Given the description of an element on the screen output the (x, y) to click on. 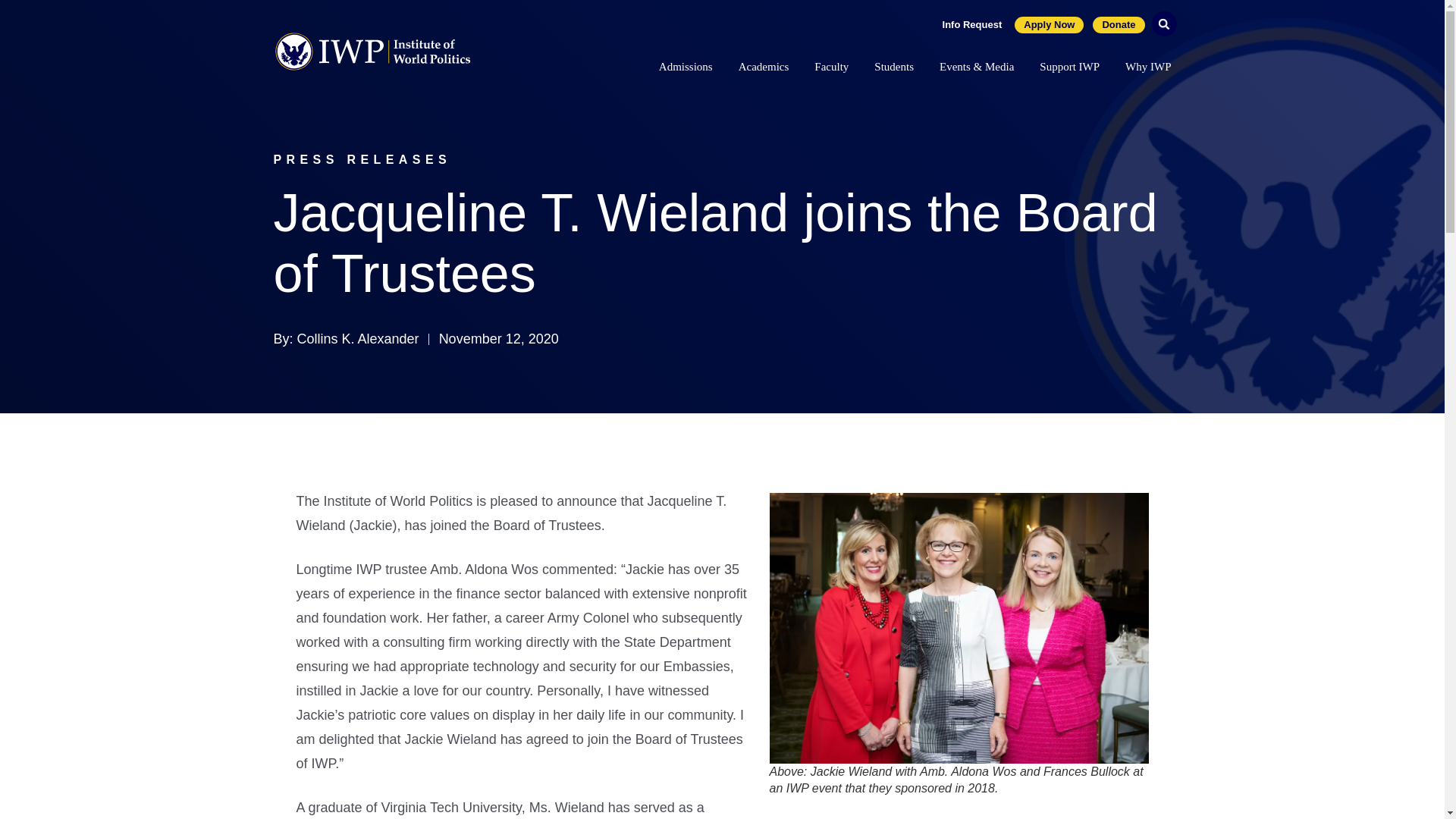
Info Request (972, 24)
Academics (763, 68)
Apply Now (1048, 24)
Admissions (685, 68)
Donate (1118, 24)
